Given the description of an element on the screen output the (x, y) to click on. 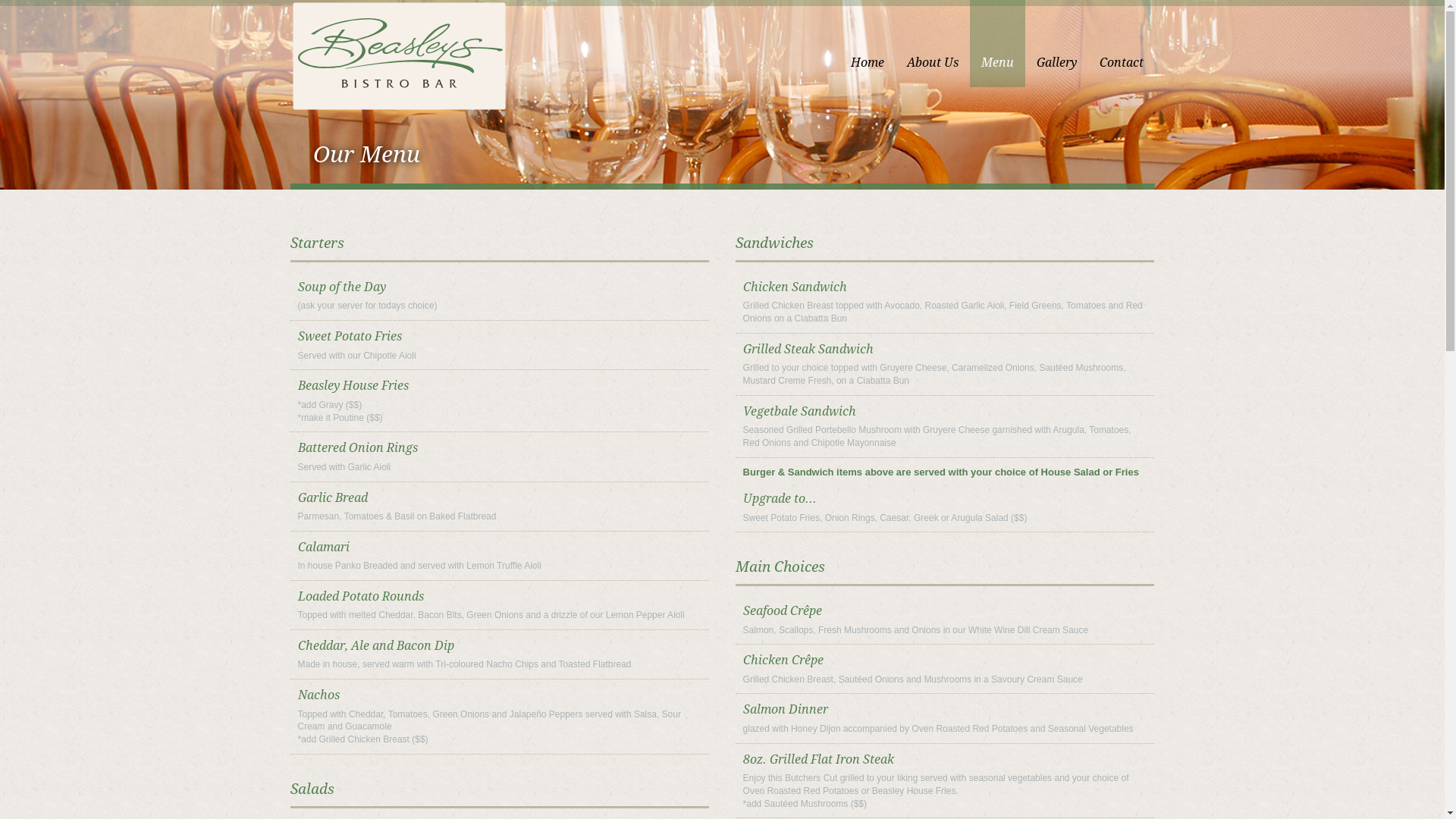
Home Element type: text (866, 43)
Contact Element type: text (1120, 43)
Gallery Element type: text (1056, 43)
Menu Element type: text (996, 43)
About Us Element type: text (931, 43)
